Given the description of an element on the screen output the (x, y) to click on. 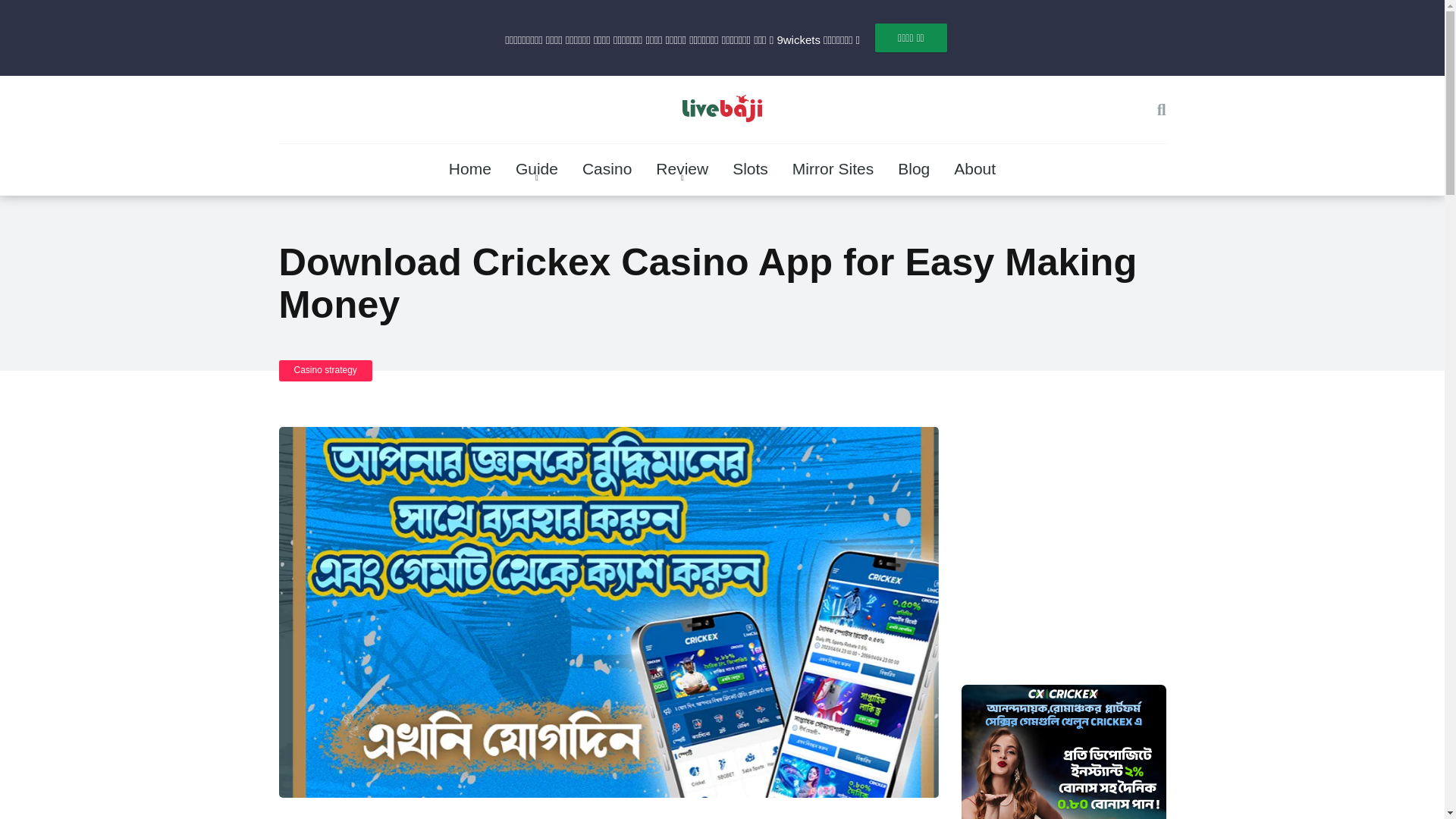
Slots (750, 169)
Review (681, 169)
About (974, 169)
Home (469, 169)
Casino (606, 169)
Guide (536, 169)
Livebaji (721, 113)
Blog (913, 169)
Mirror Sites (832, 169)
